Given the description of an element on the screen output the (x, y) to click on. 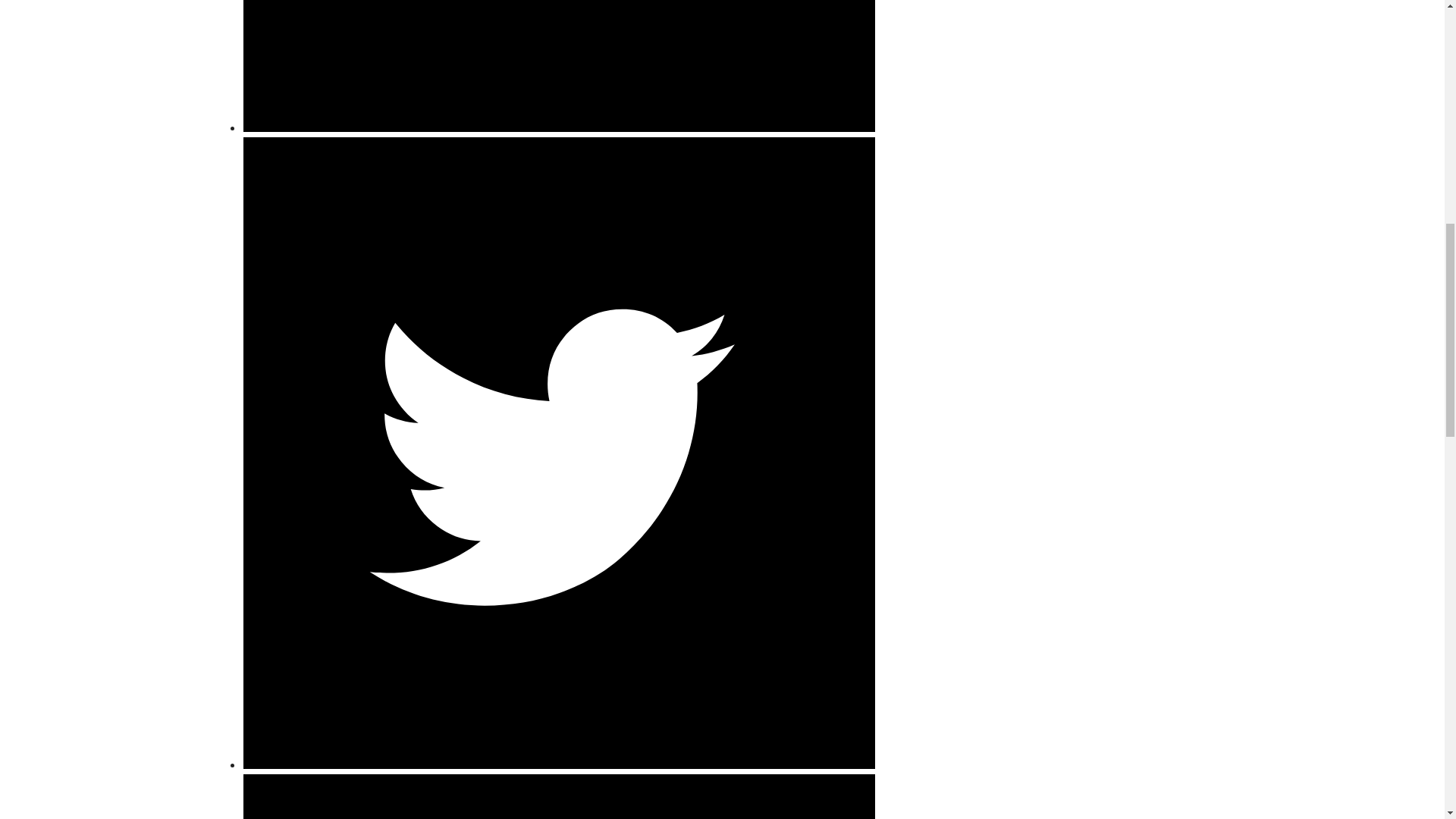
twitter (559, 764)
facebook (559, 127)
linkedIn (559, 796)
facebook (559, 65)
